Given the description of an element on the screen output the (x, y) to click on. 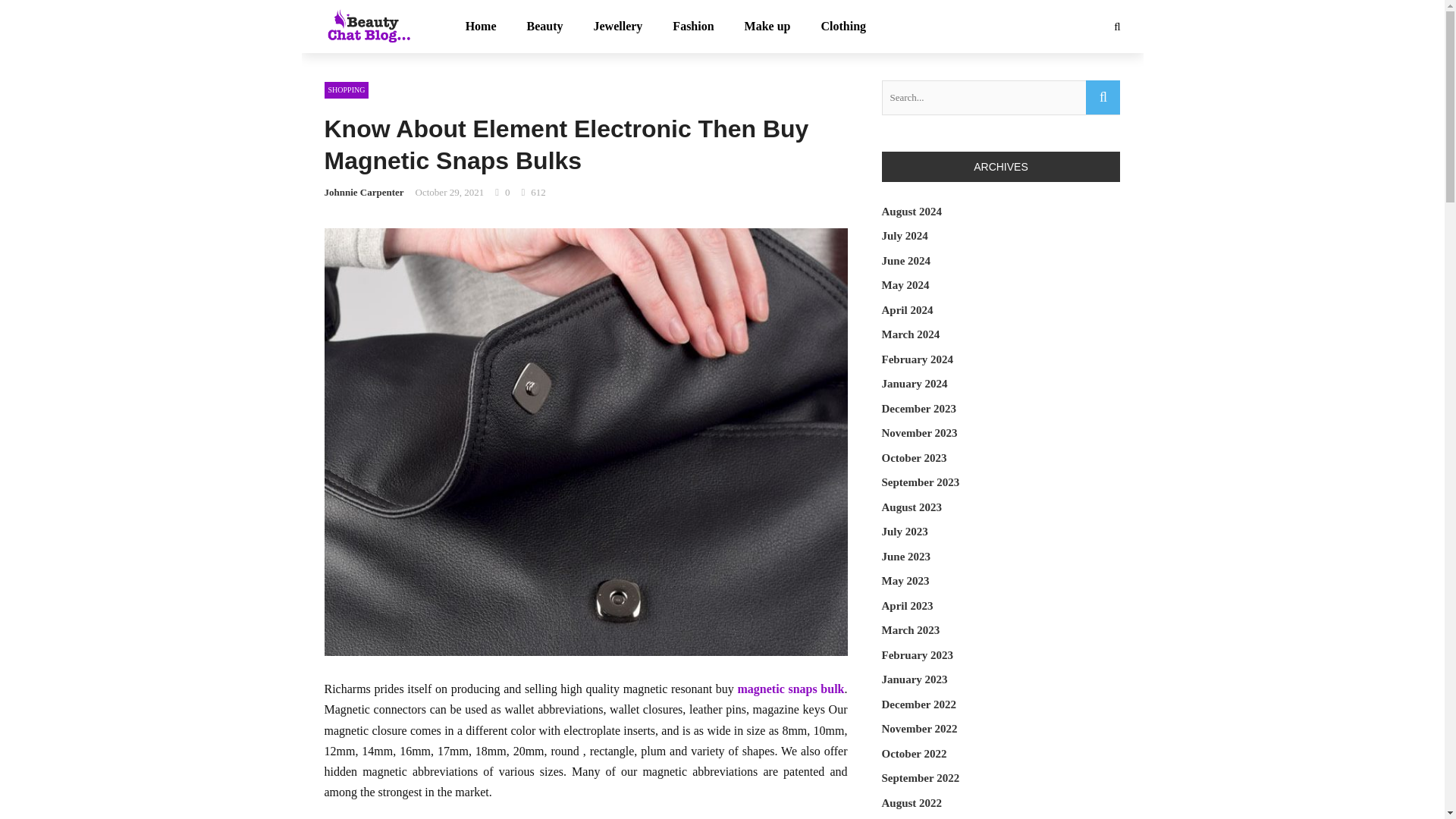
Home (480, 26)
June 2024 (905, 260)
SHOPPING (346, 89)
Jewellery (618, 26)
magnetic snaps bulk (791, 688)
Make up (767, 26)
Johnnie Carpenter (364, 192)
Beauty (544, 26)
July 2024 (903, 235)
Fashion (693, 26)
